Given the description of an element on the screen output the (x, y) to click on. 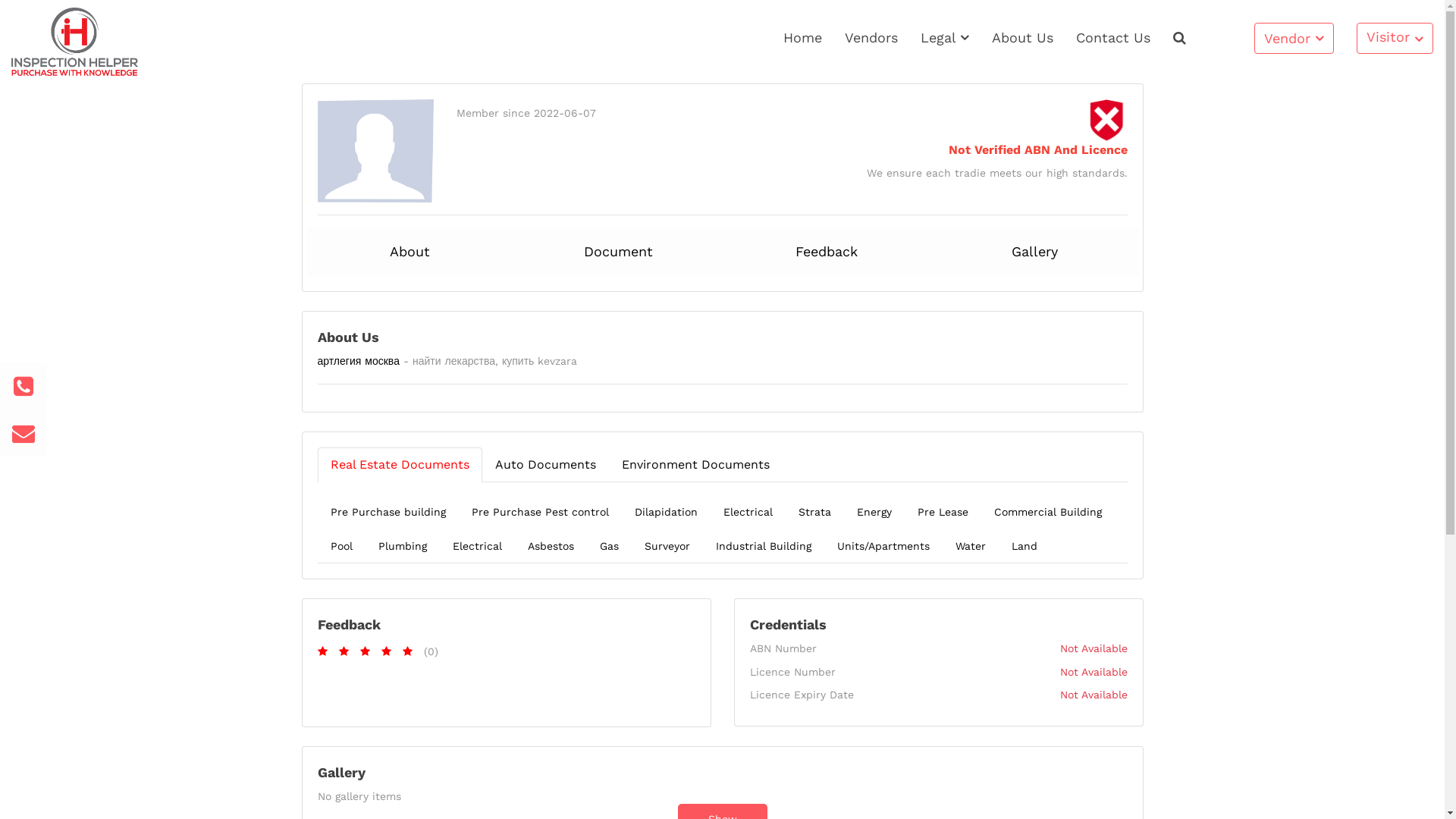
Contact Us Element type: text (1113, 37)
Pool Element type: text (340, 545)
Surveyor Element type: text (666, 545)
Water Element type: text (969, 545)
Environment Documents Element type: text (694, 464)
Not Verified Element type: hover (1106, 120)
Pre Purchase Pest control Element type: text (539, 511)
Commercial Building Element type: text (1047, 511)
Electrical Element type: text (746, 511)
About Us Element type: text (1022, 37)
Legal Element type: text (944, 37)
Plumbing Element type: text (402, 545)
Document Element type: text (618, 251)
Visitor Element type: text (1394, 37)
Home Element type: text (802, 37)
Feedback Element type: text (826, 251)
Land Element type: text (1023, 545)
Gas Element type: text (608, 545)
About Element type: text (410, 251)
Electrical Element type: text (476, 545)
Auto Documents Element type: text (545, 464)
Strata Element type: text (814, 511)
Real Estate Documents Element type: text (398, 464)
Pre Lease Element type: text (941, 511)
Asbestos Element type: text (550, 545)
Vendors Element type: text (870, 37)
Gallery Element type: text (1034, 251)
Vendor Element type: text (1293, 37)
Industrial Building Element type: text (762, 545)
Energy Element type: text (873, 511)
Pre Purchase building Element type: text (387, 511)
Dilapidation Element type: text (665, 511)
Units/Apartments Element type: text (882, 545)
